Given the description of an element on the screen output the (x, y) to click on. 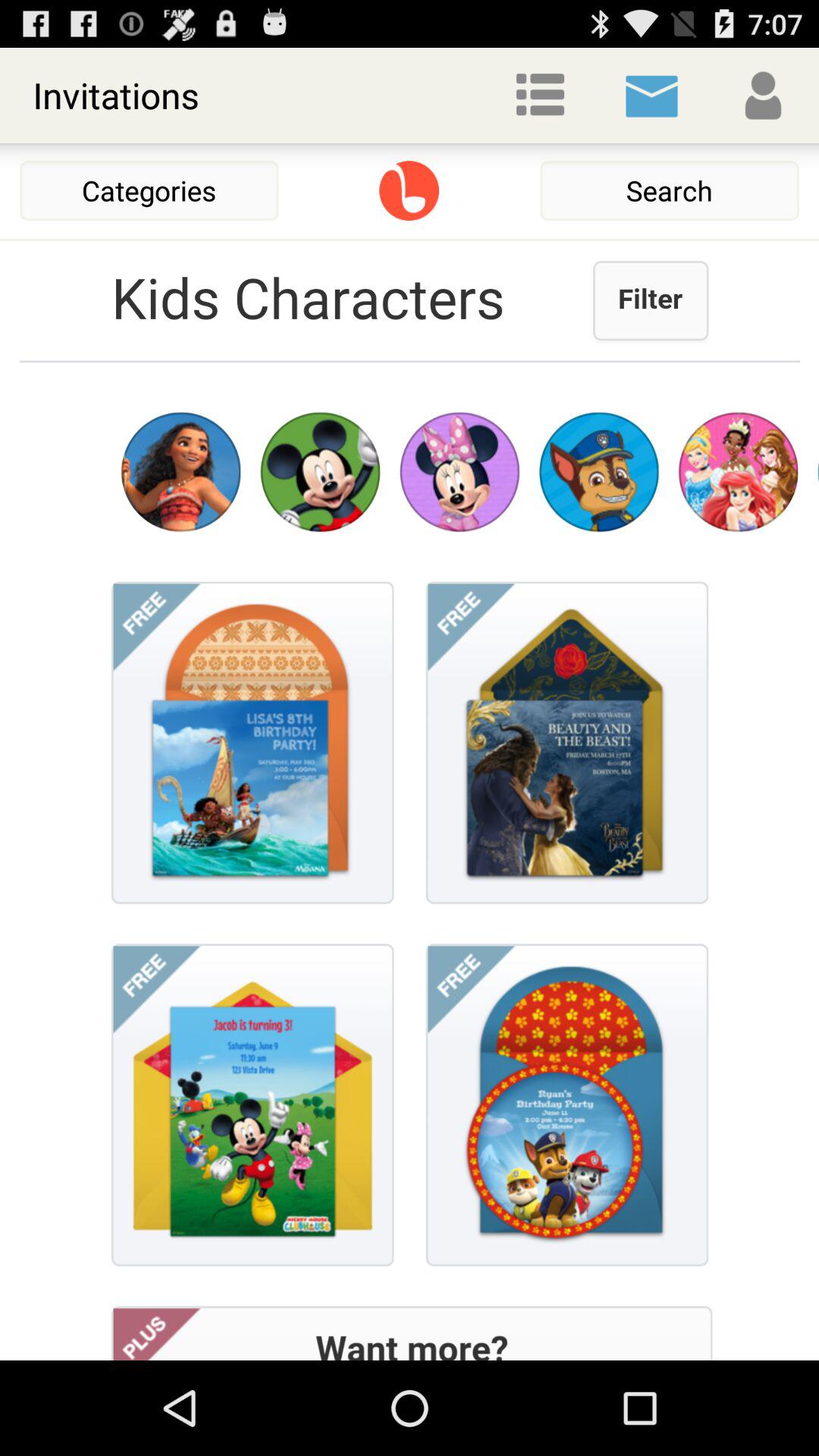
button (409, 190)
